Given the description of an element on the screen output the (x, y) to click on. 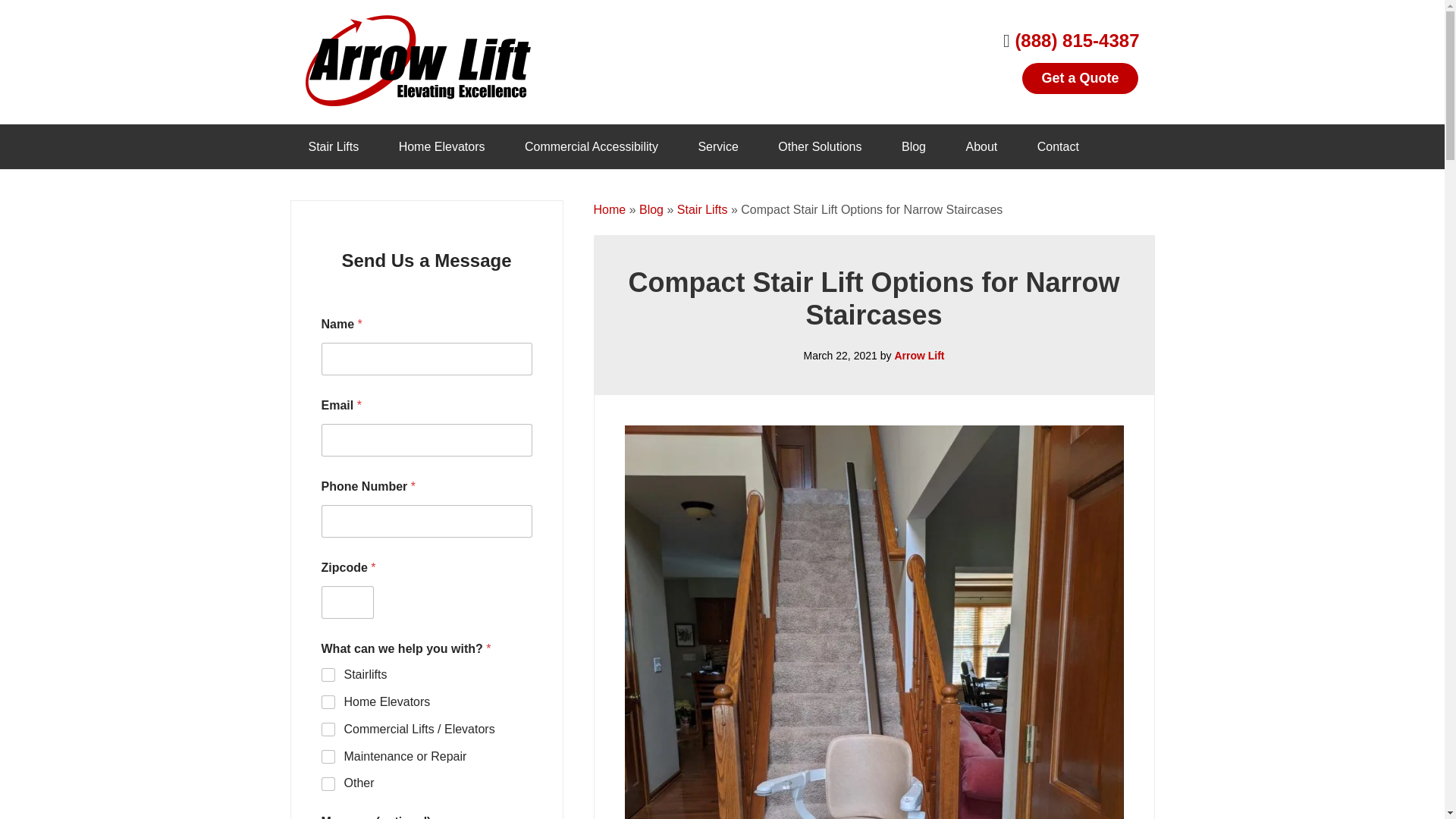
Blog (913, 146)
Home Elevators (441, 146)
Service (717, 146)
Blog (651, 209)
Home Elevators (328, 702)
Contact (1058, 146)
Stair Lifts (333, 146)
Arrow Lift (418, 60)
Other (328, 784)
Get a Quote (1079, 78)
